Given the description of an element on the screen output the (x, y) to click on. 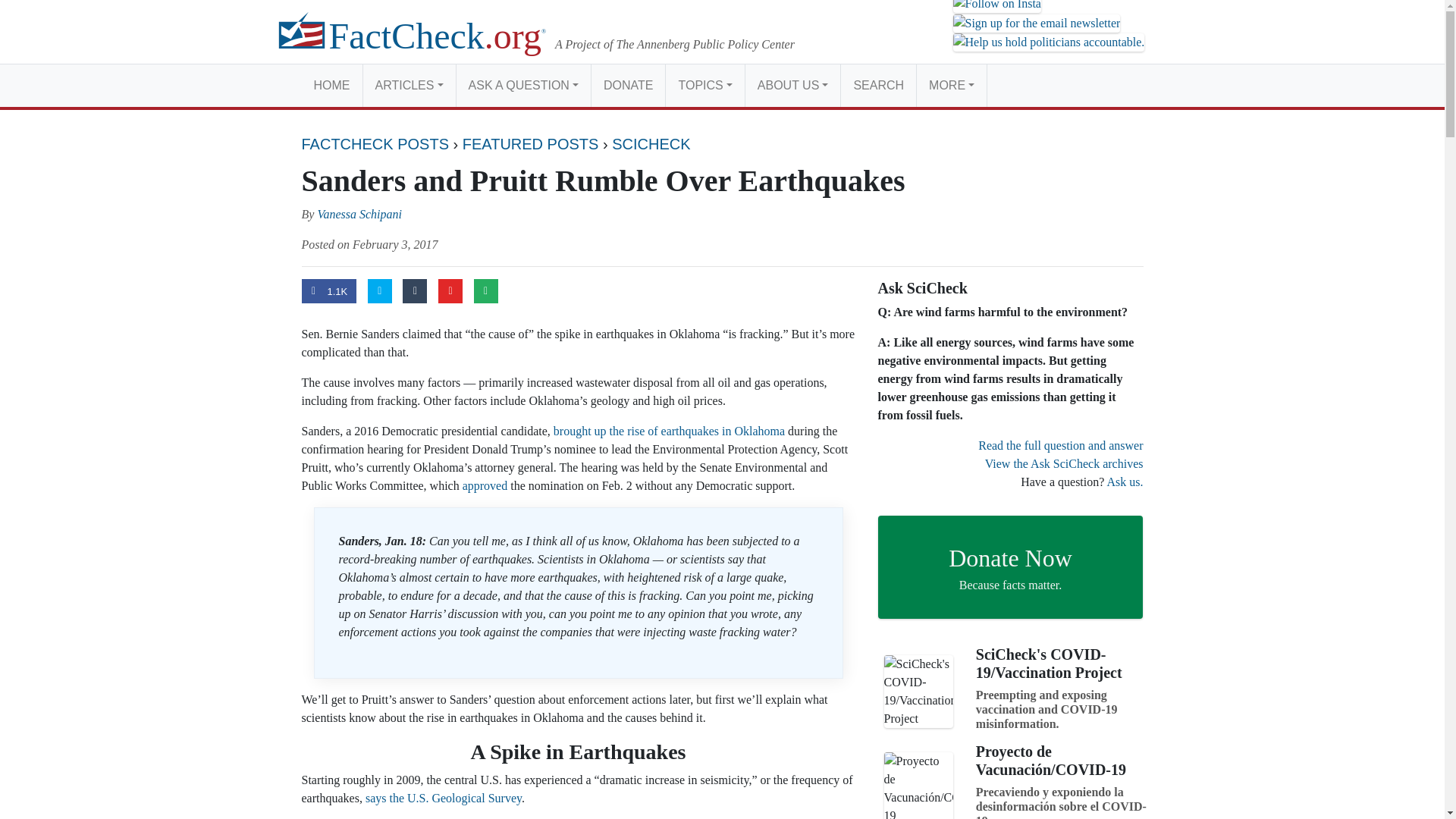
Home (331, 85)
Ask a Question (524, 85)
Donate (627, 85)
ABOUT US (792, 85)
TOPICS (704, 85)
Topics (704, 85)
Articles (408, 85)
ASK A QUESTION (524, 85)
ARTICLES (408, 85)
